Given the description of an element on the screen output the (x, y) to click on. 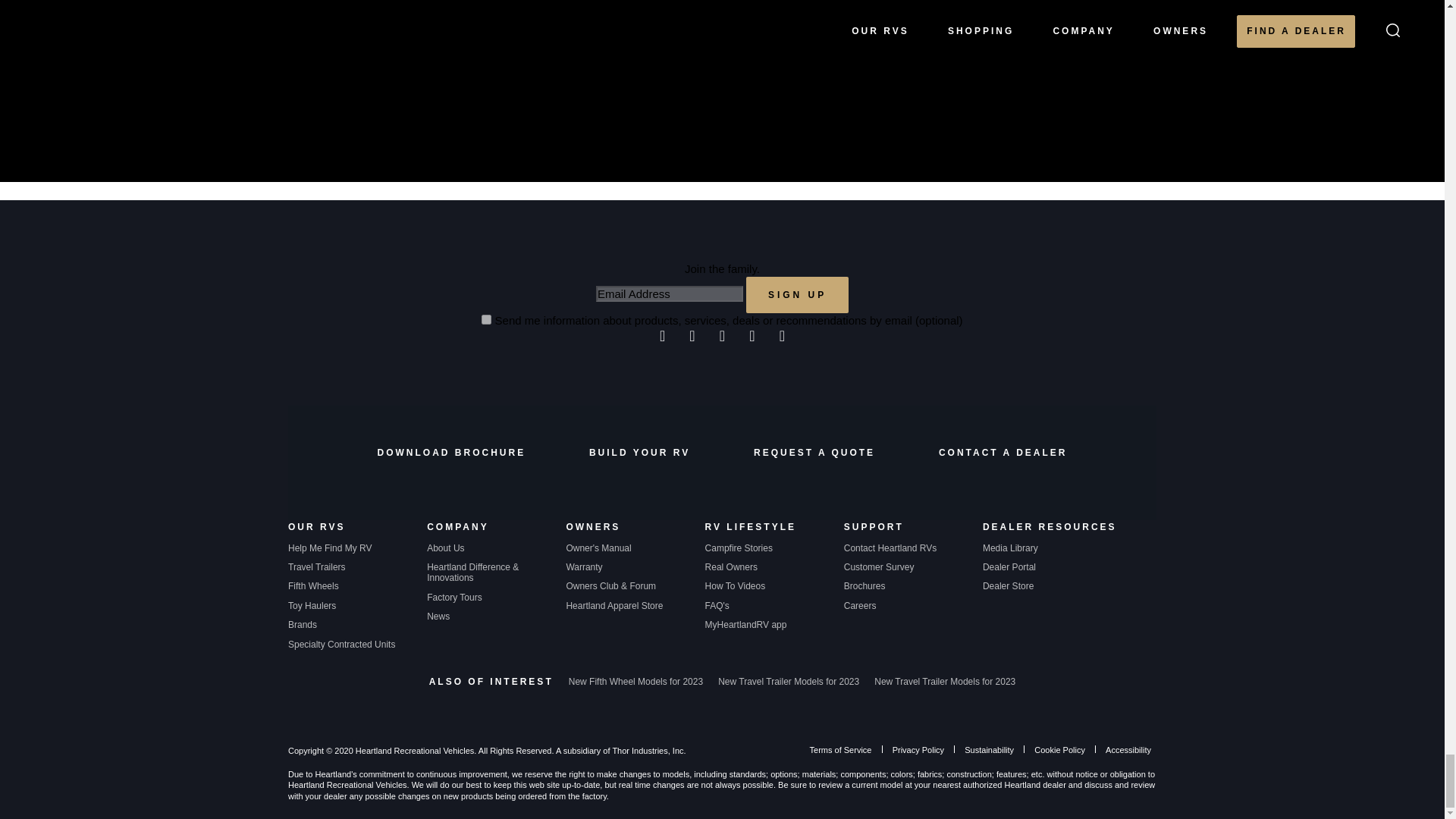
Sign Up (796, 294)
on (486, 319)
